Given the description of an element on the screen output the (x, y) to click on. 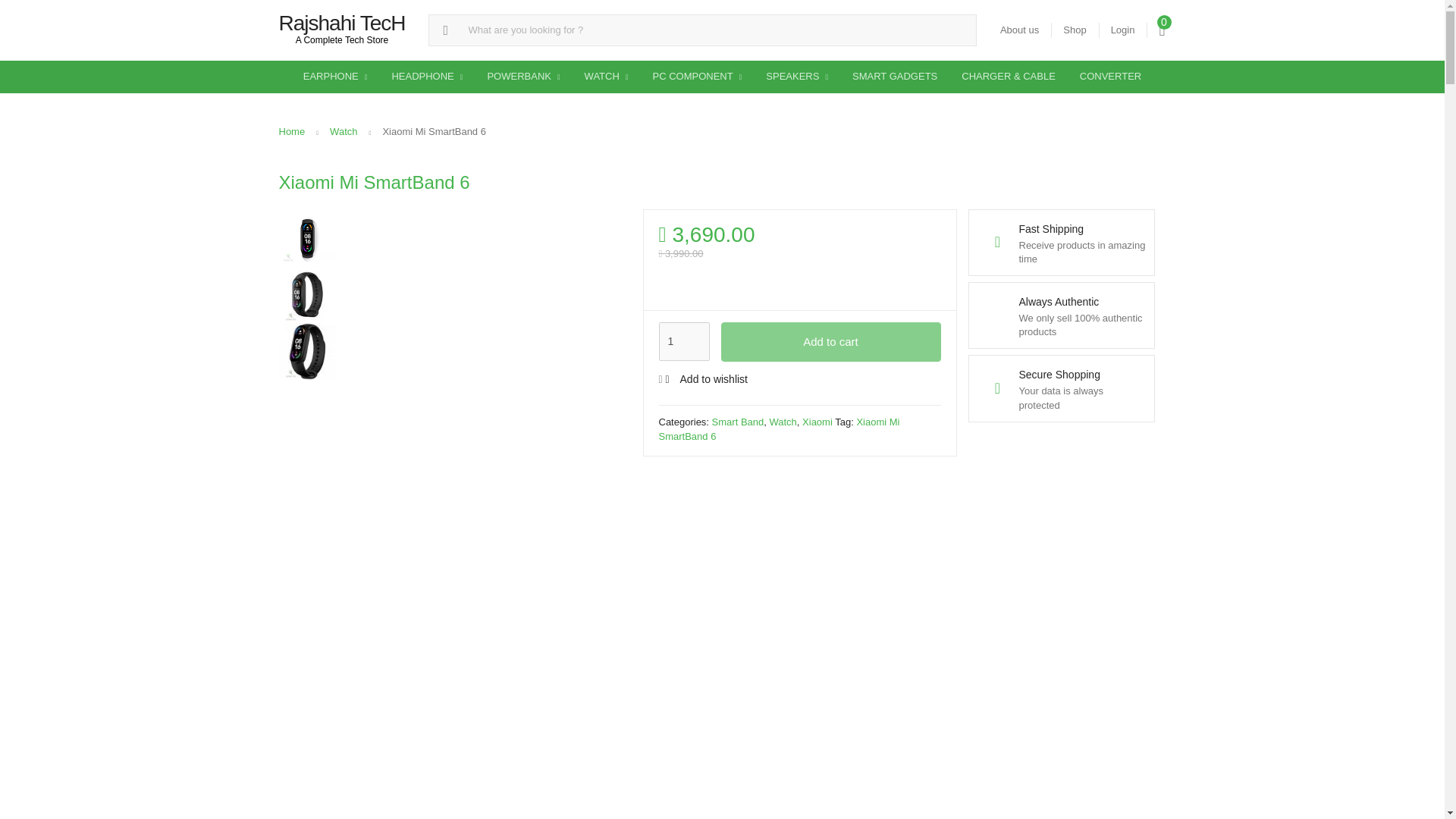
CONVERTER (1110, 76)
1 (683, 341)
Xiaomi Mi SmartBand 6 (307, 351)
PC COMPONENT (697, 76)
SPEAKERS (797, 76)
EARPHONE (335, 76)
POWERBANK (523, 76)
Search (17, 12)
original-xiaomi-mi-smart-band-6-in-bd-at-bdshopcom (307, 294)
WATCH (606, 76)
